Given the description of an element on the screen output the (x, y) to click on. 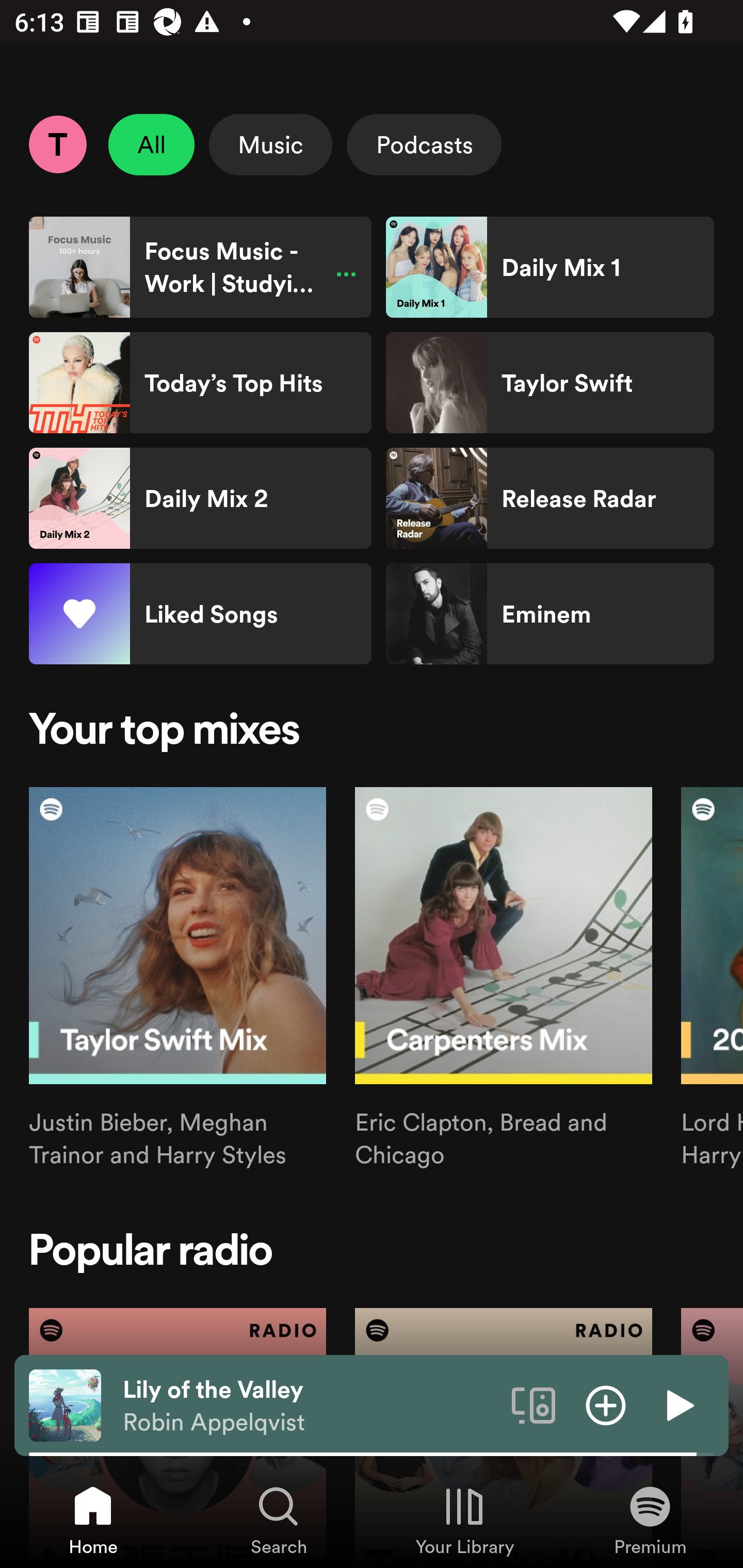
Profile (57, 144)
All Unselect All (151, 144)
Music Select Music (270, 144)
Podcasts Select Podcasts (423, 144)
Daily Mix 1 Shortcut Daily Mix 1 (549, 267)
Today’s Top Hits Shortcut Today’s Top Hits (199, 382)
Taylor Swift Shortcut Taylor Swift (549, 382)
Daily Mix 2 Shortcut Daily Mix 2 (199, 498)
Release Radar Shortcut Release Radar (549, 498)
Liked Songs Shortcut Liked Songs (199, 613)
Eminem Shortcut Eminem (549, 613)
Lily of the Valley Robin Appelqvist (309, 1405)
The cover art of the currently playing track (64, 1404)
Connect to a device. Opens the devices menu (533, 1404)
Add item (605, 1404)
Play (677, 1404)
Home, Tab 1 of 4 Home Home (92, 1519)
Search, Tab 2 of 4 Search Search (278, 1519)
Your Library, Tab 3 of 4 Your Library Your Library (464, 1519)
Premium, Tab 4 of 4 Premium Premium (650, 1519)
